Given the description of an element on the screen output the (x, y) to click on. 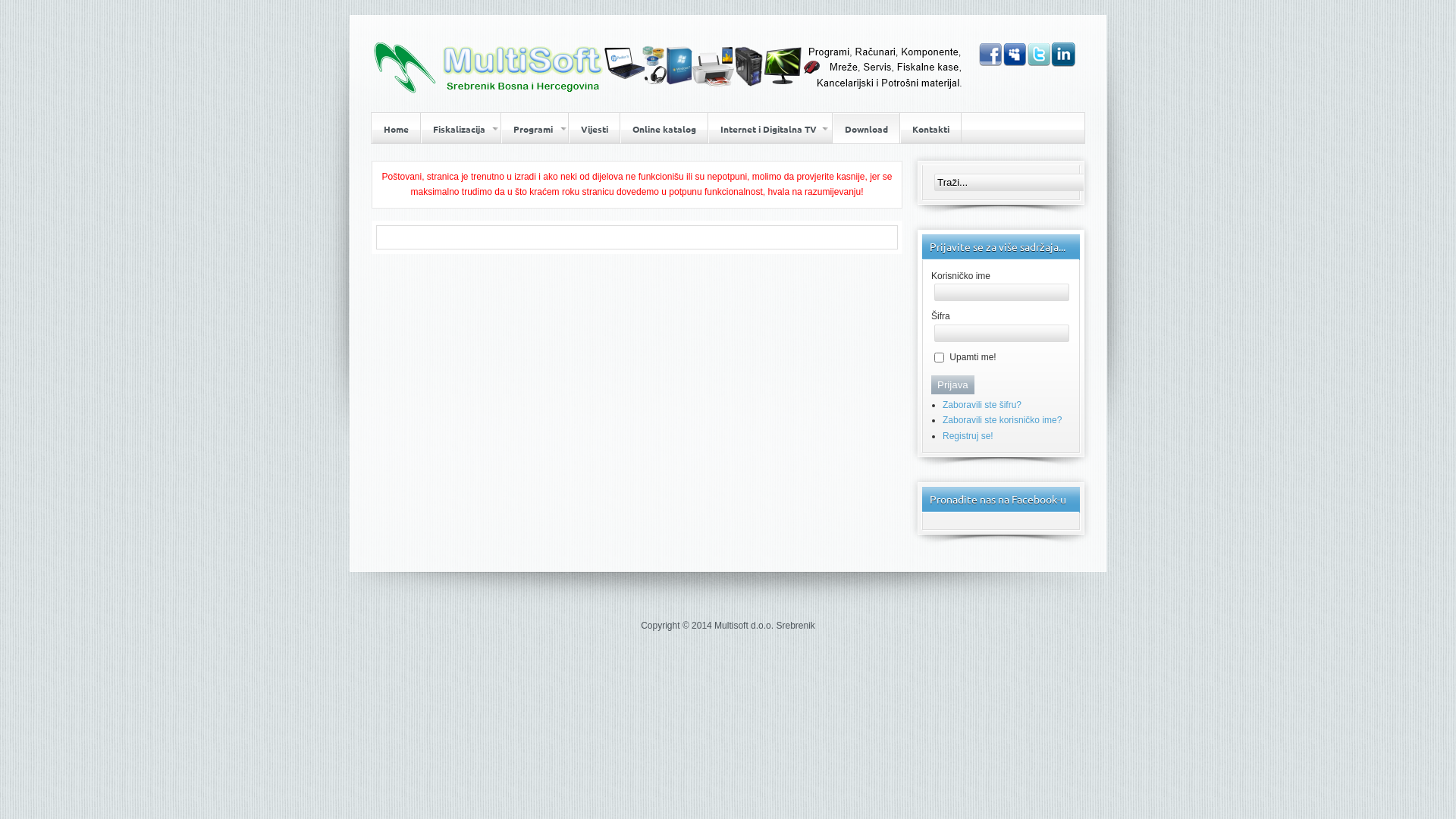
Home Element type: text (395, 127)
Facebook Element type: hover (990, 54)
Internet i Digitalna TV Element type: text (770, 127)
linkedin Element type: hover (1063, 54)
Vijesti Element type: text (594, 127)
Registruj se! Element type: text (967, 435)
Prijava Element type: text (952, 384)
Download Element type: text (866, 127)
Twitter Element type: hover (1038, 54)
Online katalog Element type: text (664, 127)
Programi Element type: text (534, 127)
Fiskalizacija Element type: text (460, 127)
MySpace Element type: hover (1014, 54)
Kontakti Element type: text (930, 127)
